Given the description of an element on the screen output the (x, y) to click on. 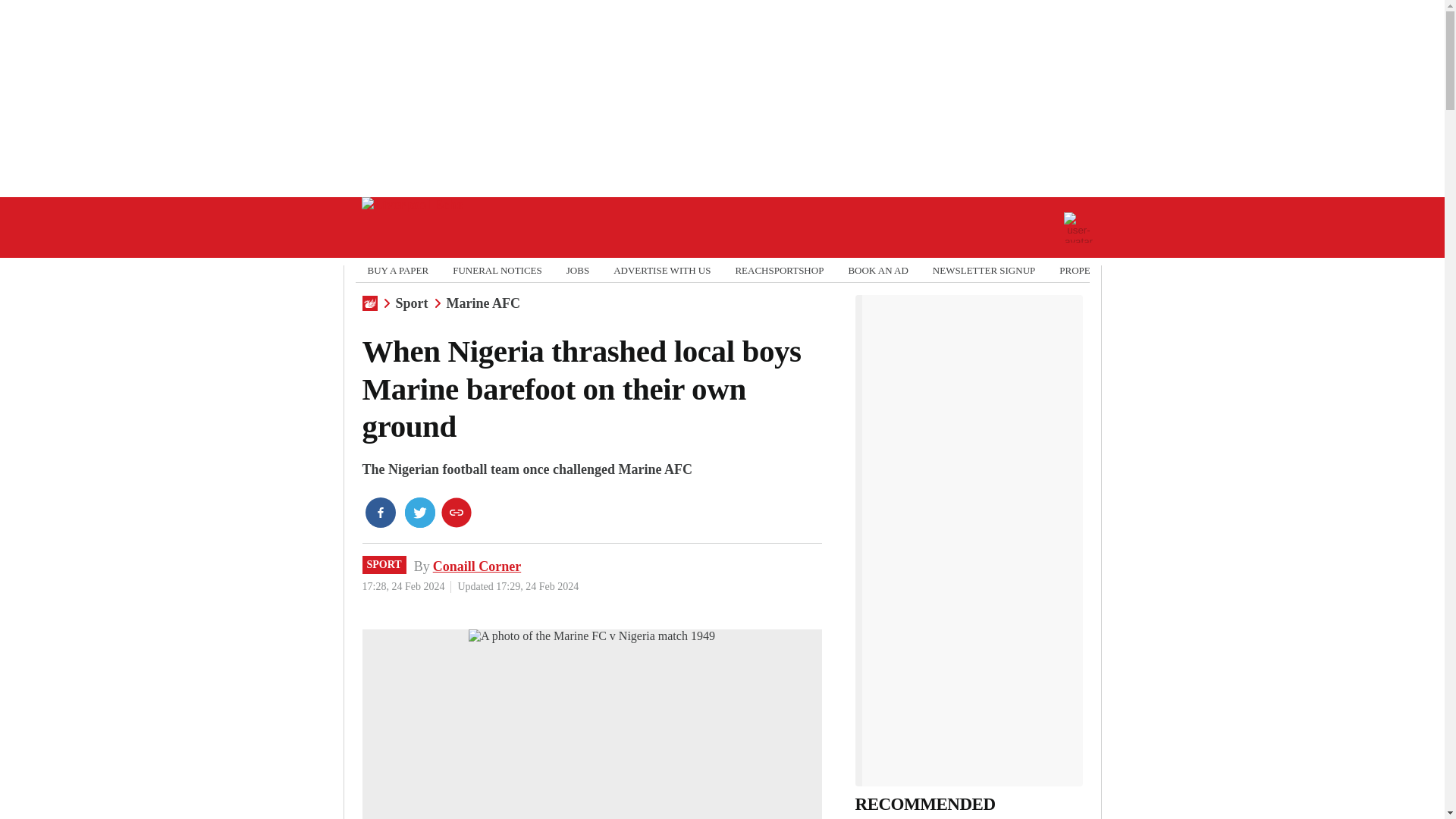
FUNERAL NOTICES (496, 270)
Marine AFC (482, 303)
PROPERTY (1084, 270)
SPORT (384, 565)
copy link (456, 512)
Conaill Corner (476, 566)
JOBS (577, 270)
ADVERTISE WITH US (661, 270)
Go to the Liverpool Echo homepage (411, 227)
BOOK AN AD (877, 270)
